Given the description of an element on the screen output the (x, y) to click on. 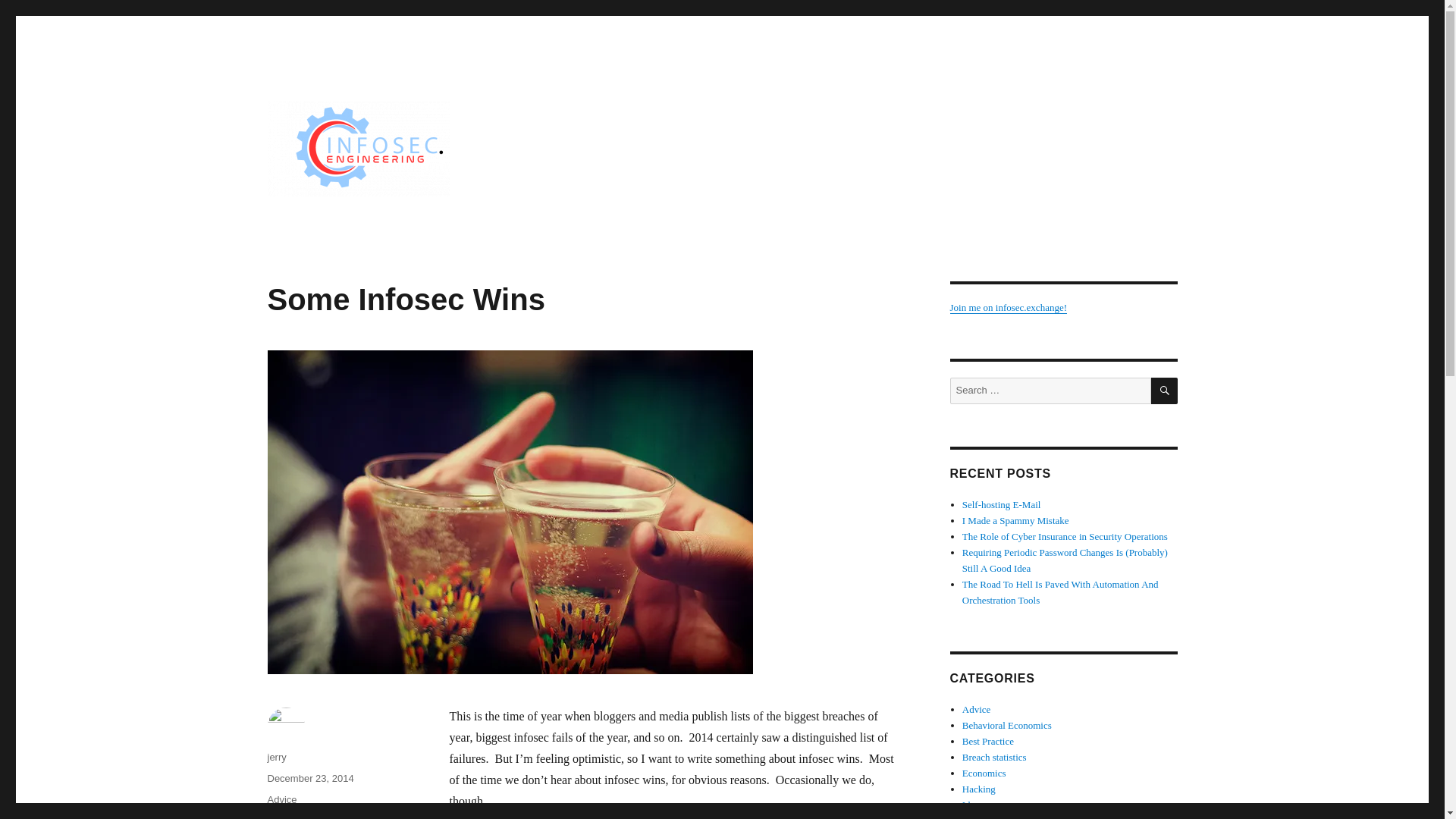
December 23, 2014 (309, 778)
SEARCH (1164, 390)
Economics (984, 772)
I Made a Spammy Mistake (1015, 520)
Self-hosting E-Mail (1001, 504)
jerry (275, 756)
Advice (281, 799)
Malware (979, 816)
Best Practice (987, 740)
The Role of Cyber Insurance in Security Operations (1064, 536)
